Given the description of an element on the screen output the (x, y) to click on. 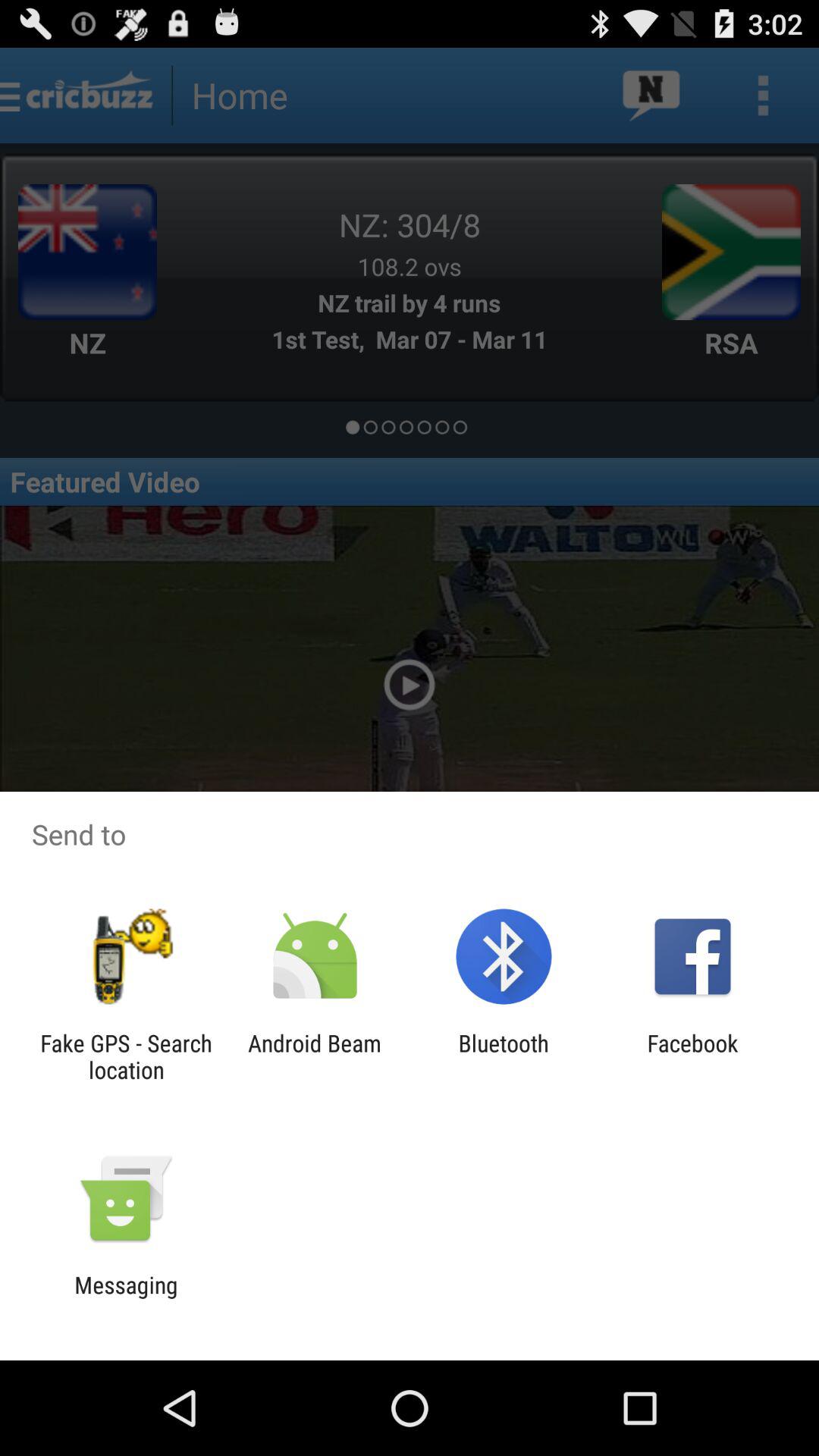
tap item to the right of fake gps search app (314, 1056)
